Given the description of an element on the screen output the (x, y) to click on. 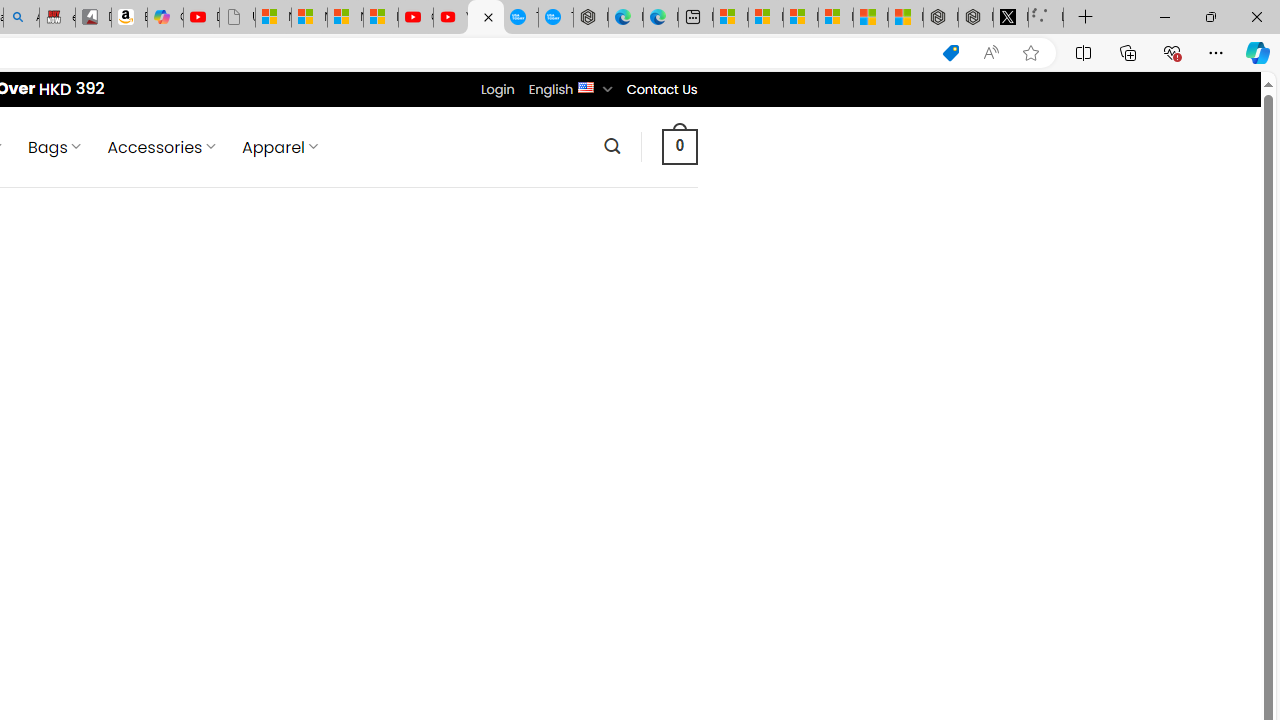
Gloom - YouTube (415, 17)
